Given the description of an element on the screen output the (x, y) to click on. 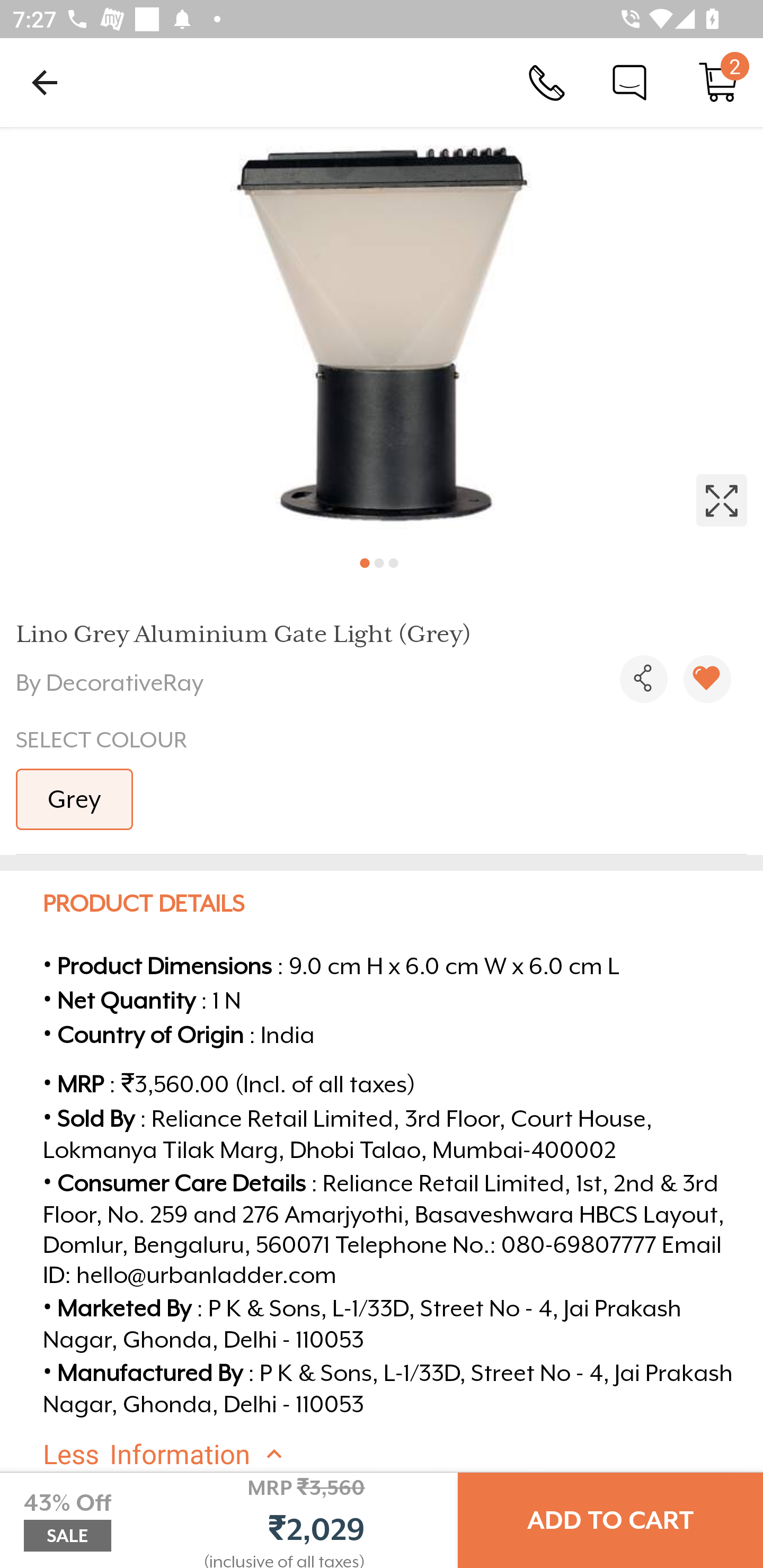
Navigate up (44, 82)
Call Us (546, 81)
Chat (629, 81)
Cart (718, 81)
 (381, 334)
 (643, 678)
 (706, 678)
Grey (74, 798)
Less Information  (396, 1454)
ADD TO CART (610, 1520)
